Given the description of an element on the screen output the (x, y) to click on. 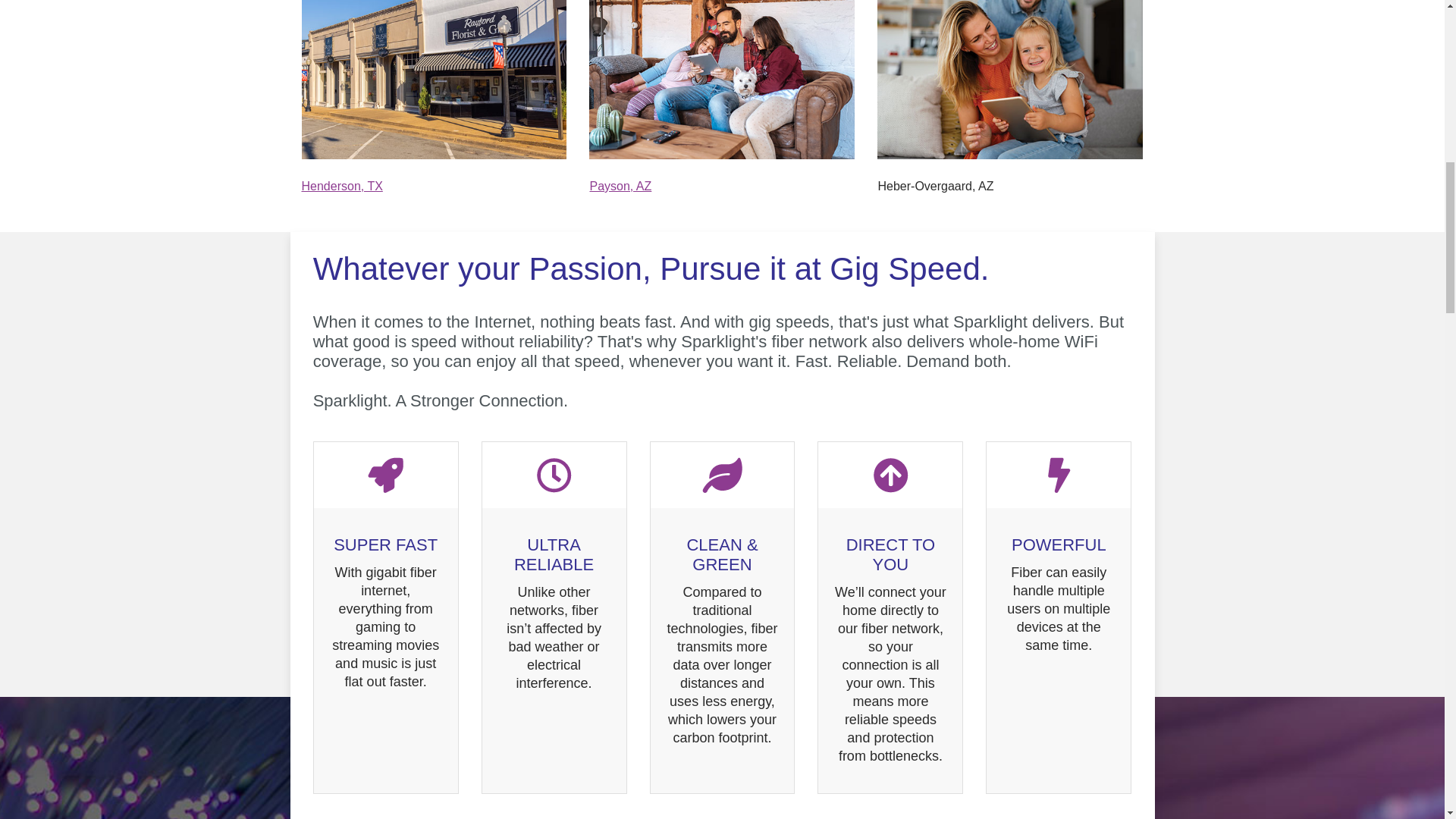
Henderson, TX (341, 185)
Payson, AZ (619, 185)
